Given the description of an element on the screen output the (x, y) to click on. 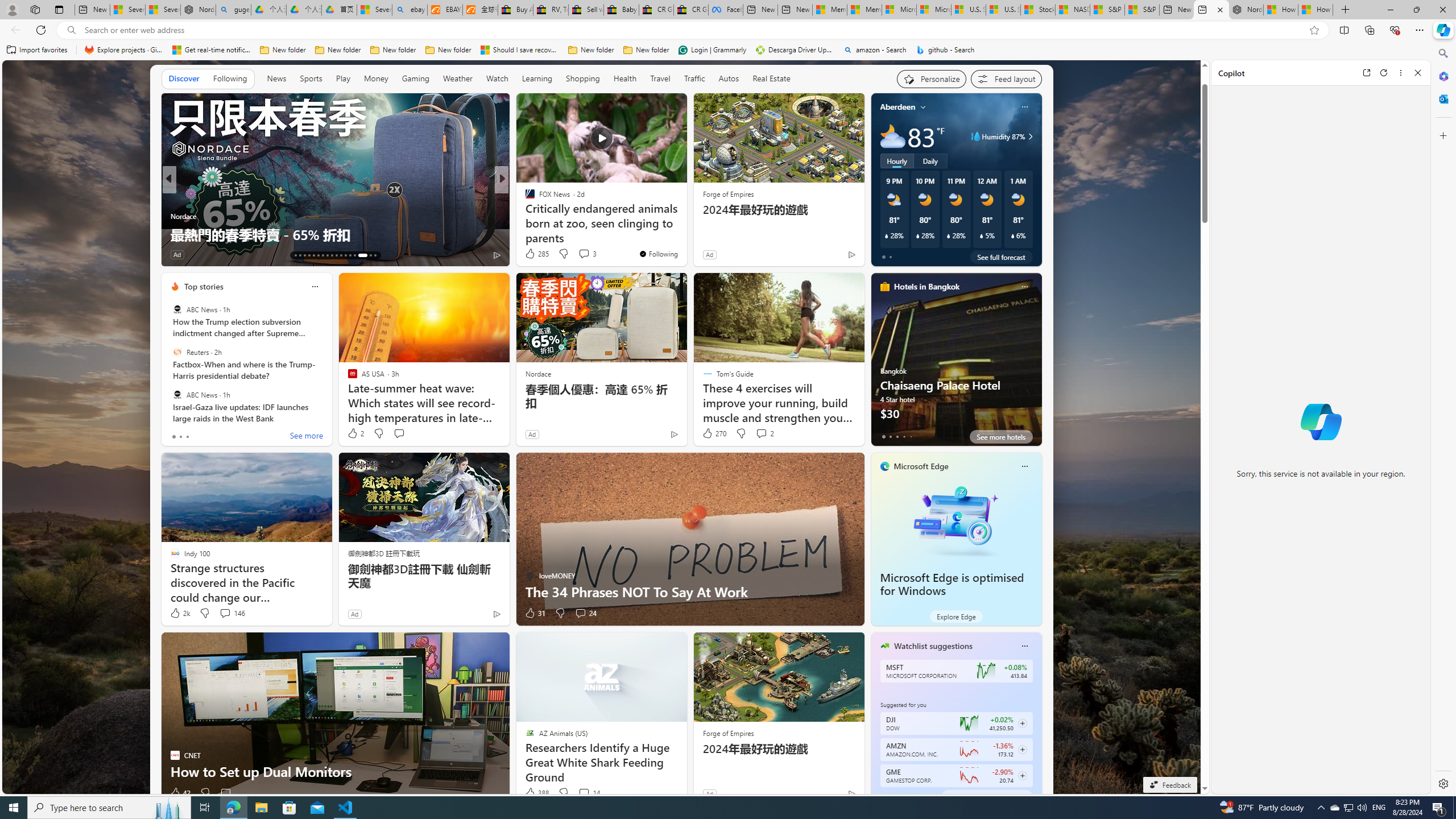
Close (1417, 72)
Mostly cloudy (892, 136)
Shopping (582, 78)
Address and search bar (692, 29)
github - Search (945, 49)
Class: icon-img (1024, 645)
View comments 14 Comment (583, 792)
Baby Keepsakes & Announcements for sale | eBay (620, 9)
Traffic (694, 78)
tab-2 (897, 795)
Import favorites (36, 49)
